Given the description of an element on the screen output the (x, y) to click on. 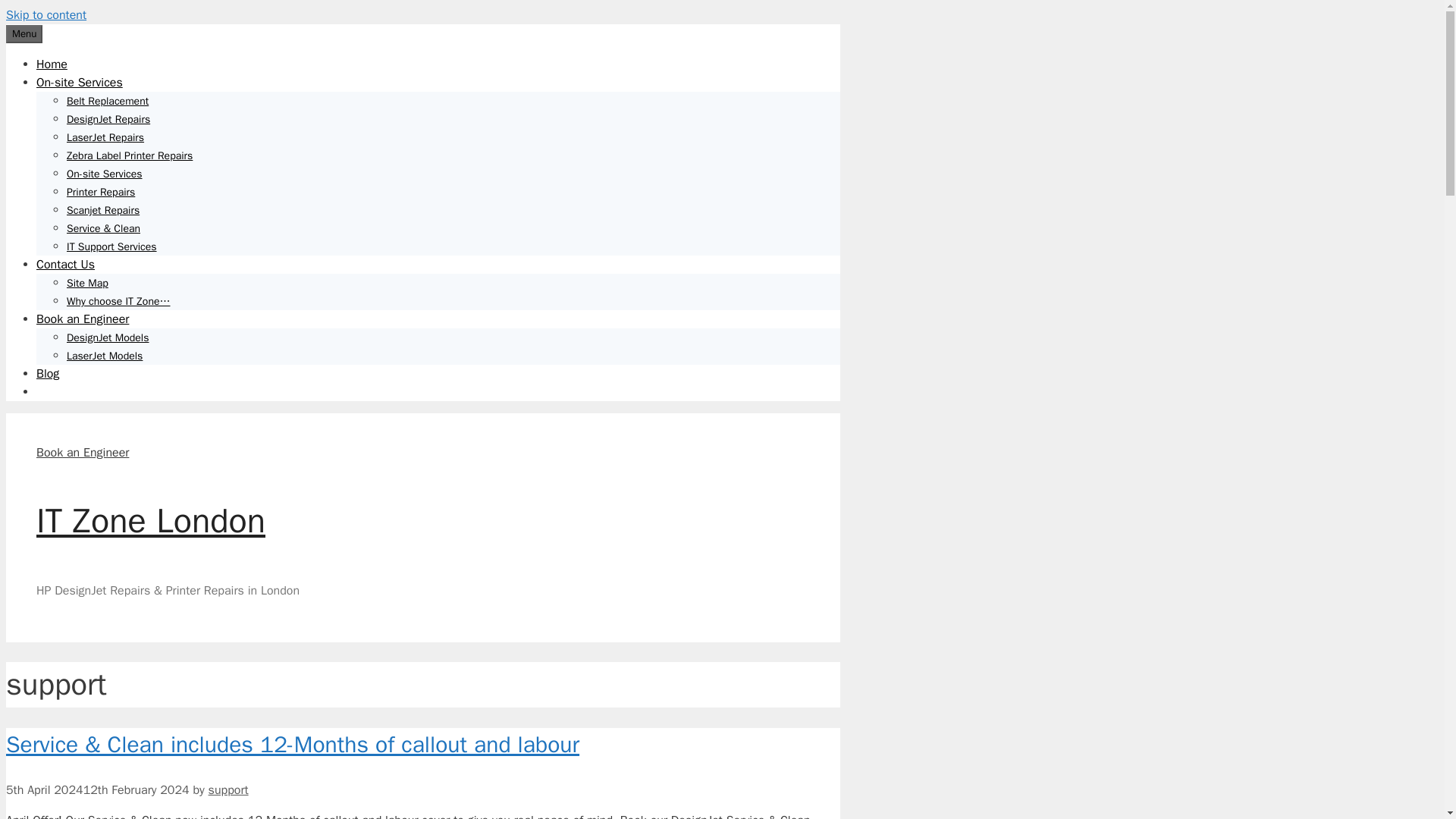
DesignJet Models (107, 337)
Book an Engineer (82, 319)
Menu (23, 34)
LaserJet Models (104, 355)
Zebra Label Printer Repairs (129, 155)
LaserJet Repairs (105, 137)
View all posts by support (228, 789)
On-site Services (104, 173)
Printer Repairs (100, 192)
Home (51, 64)
IT Support Services (111, 246)
DesignJet Repairs (107, 119)
Scanjet Repairs (102, 210)
Book a printer engineer to attend... (82, 452)
Site Map (86, 282)
